Given the description of an element on the screen output the (x, y) to click on. 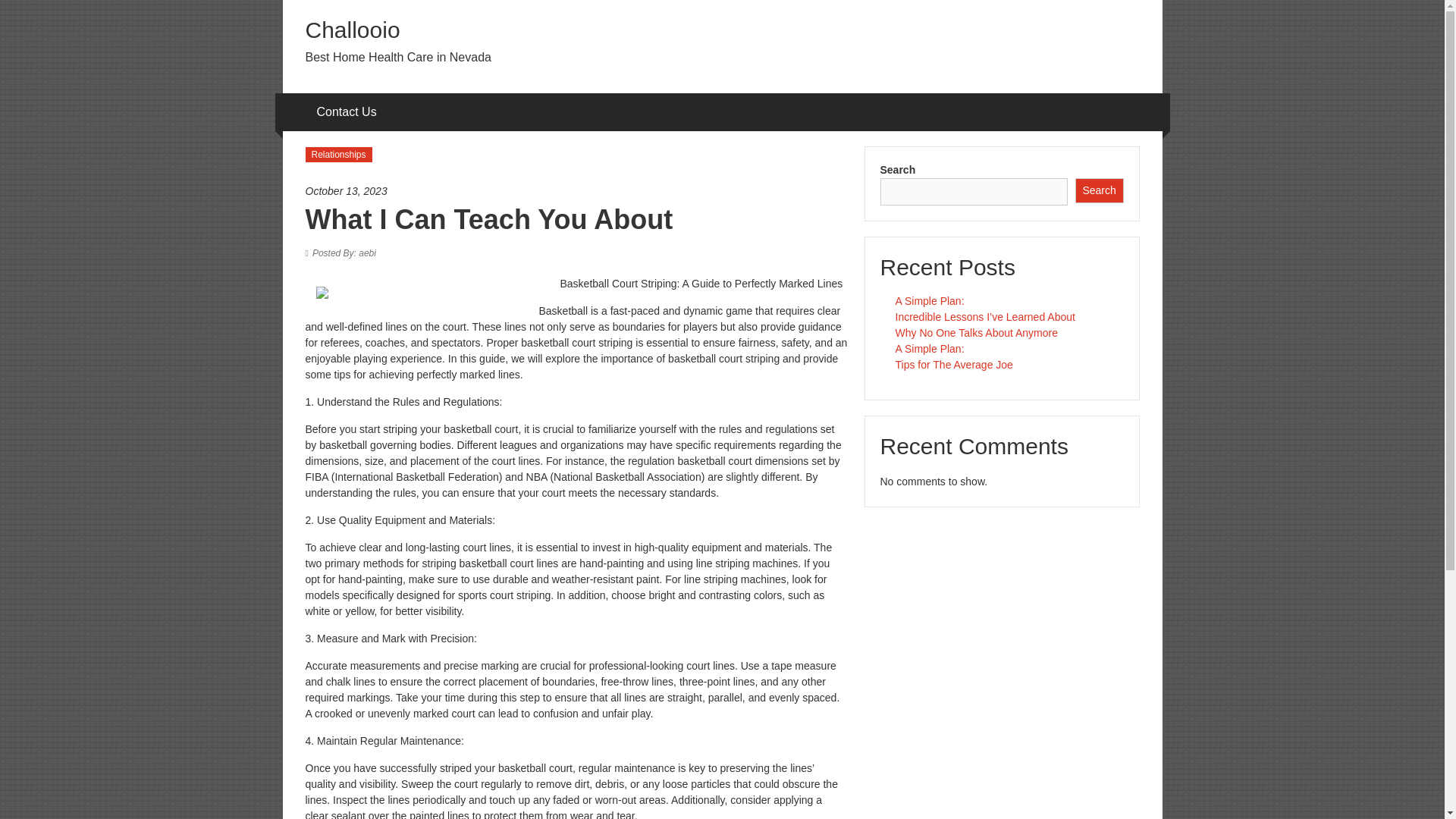
A Simple Plan: (929, 348)
Challooio (351, 29)
Tips for The Average Joe (953, 364)
aebi (344, 253)
Why No One Talks About Anymore (976, 332)
Relationships (337, 154)
A Simple Plan: (929, 300)
October 13, 2023 (575, 191)
6:20 am (575, 191)
Contact Us (347, 112)
